Given the description of an element on the screen output the (x, y) to click on. 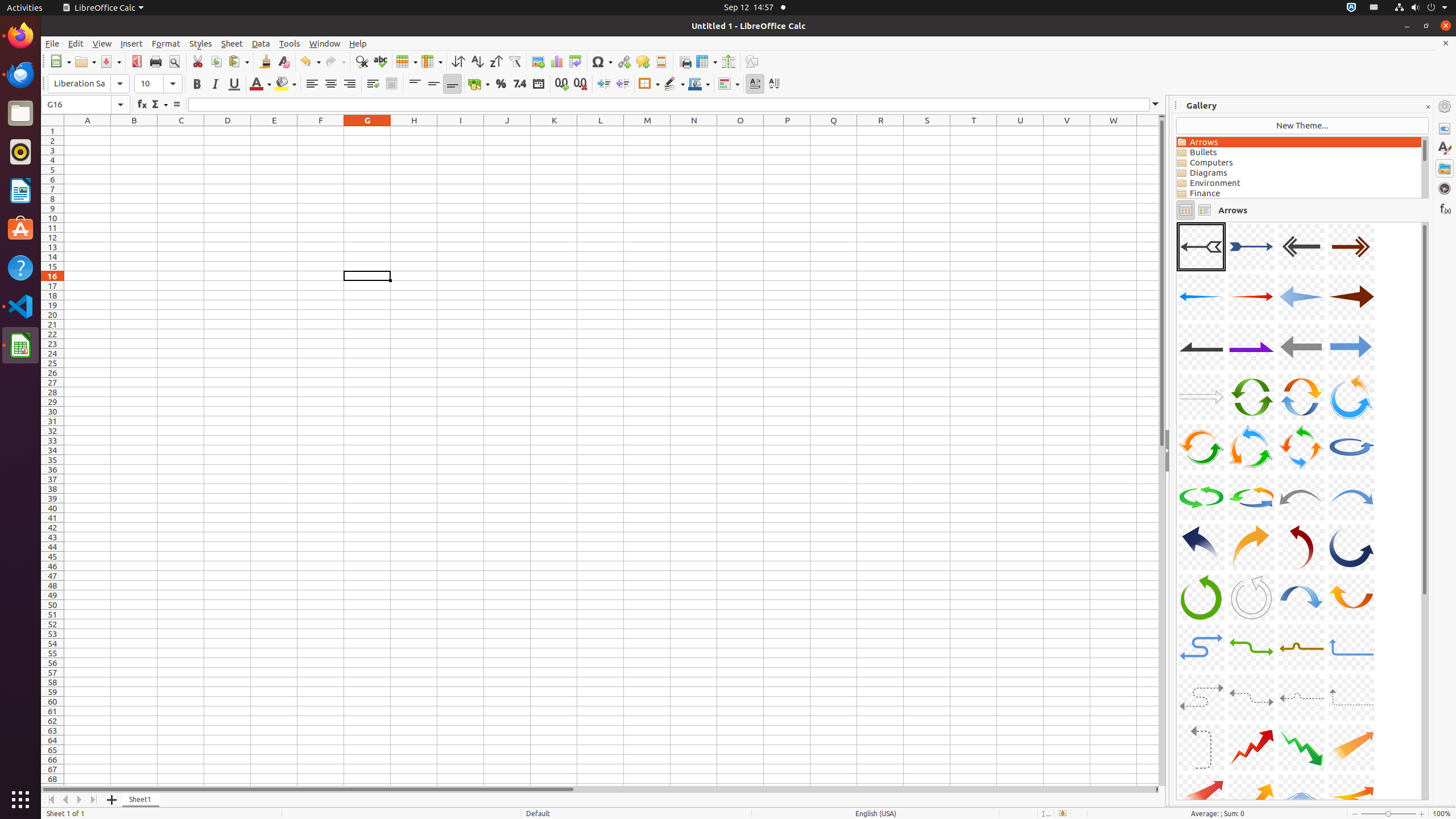
Insert Element type: menu (131, 43)
Paste Element type: push-button (237, 61)
D1 Element type: table-cell (227, 130)
Find & Replace Element type: toggle-button (361, 61)
Navigator Element type: radio-button (1444, 188)
